Given the description of an element on the screen output the (x, y) to click on. 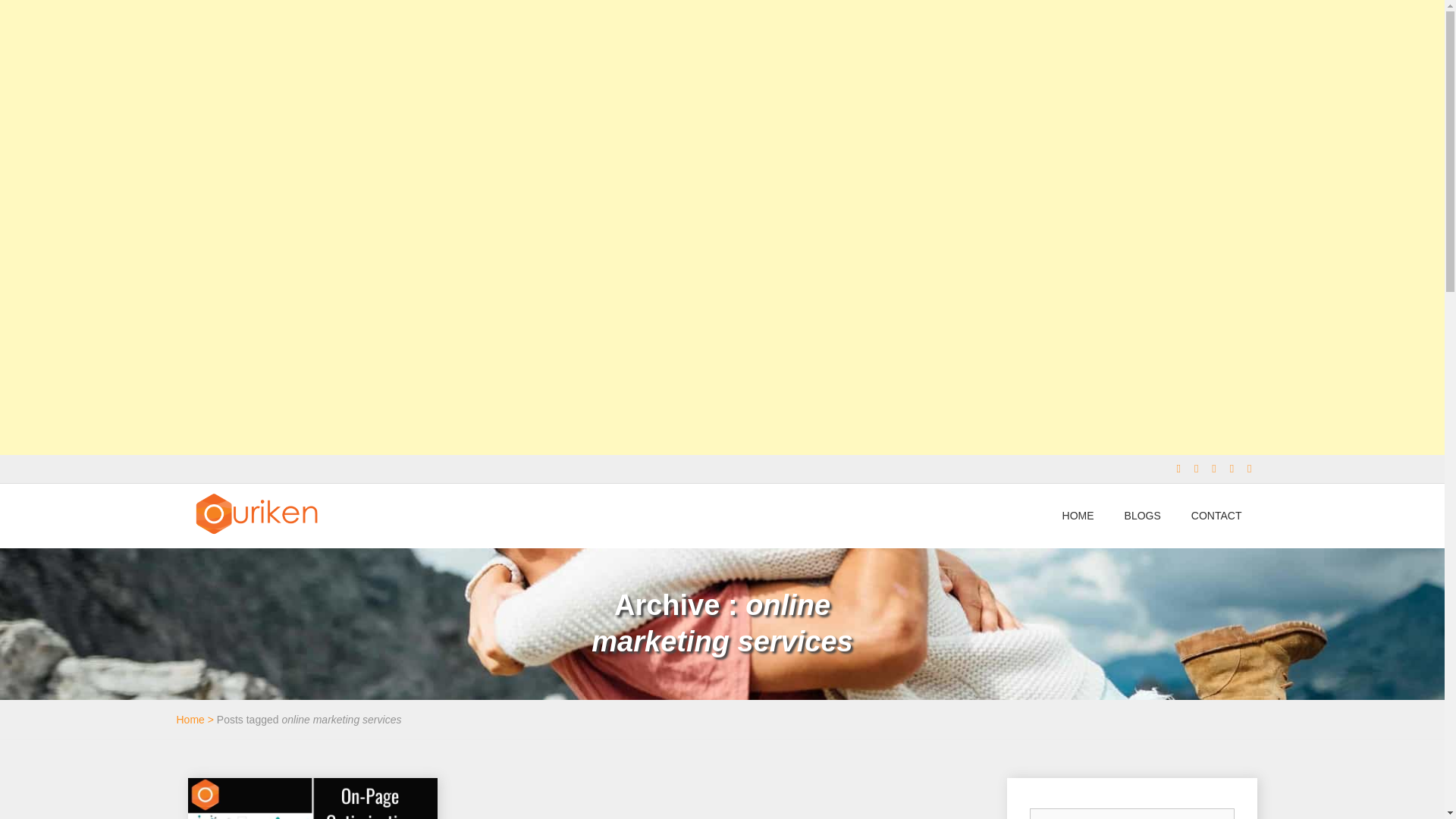
CONTACT (1216, 515)
Ouriken Blogs (254, 556)
BLOGS (1142, 515)
Home (189, 719)
HOME (1077, 515)
